Given the description of an element on the screen output the (x, y) to click on. 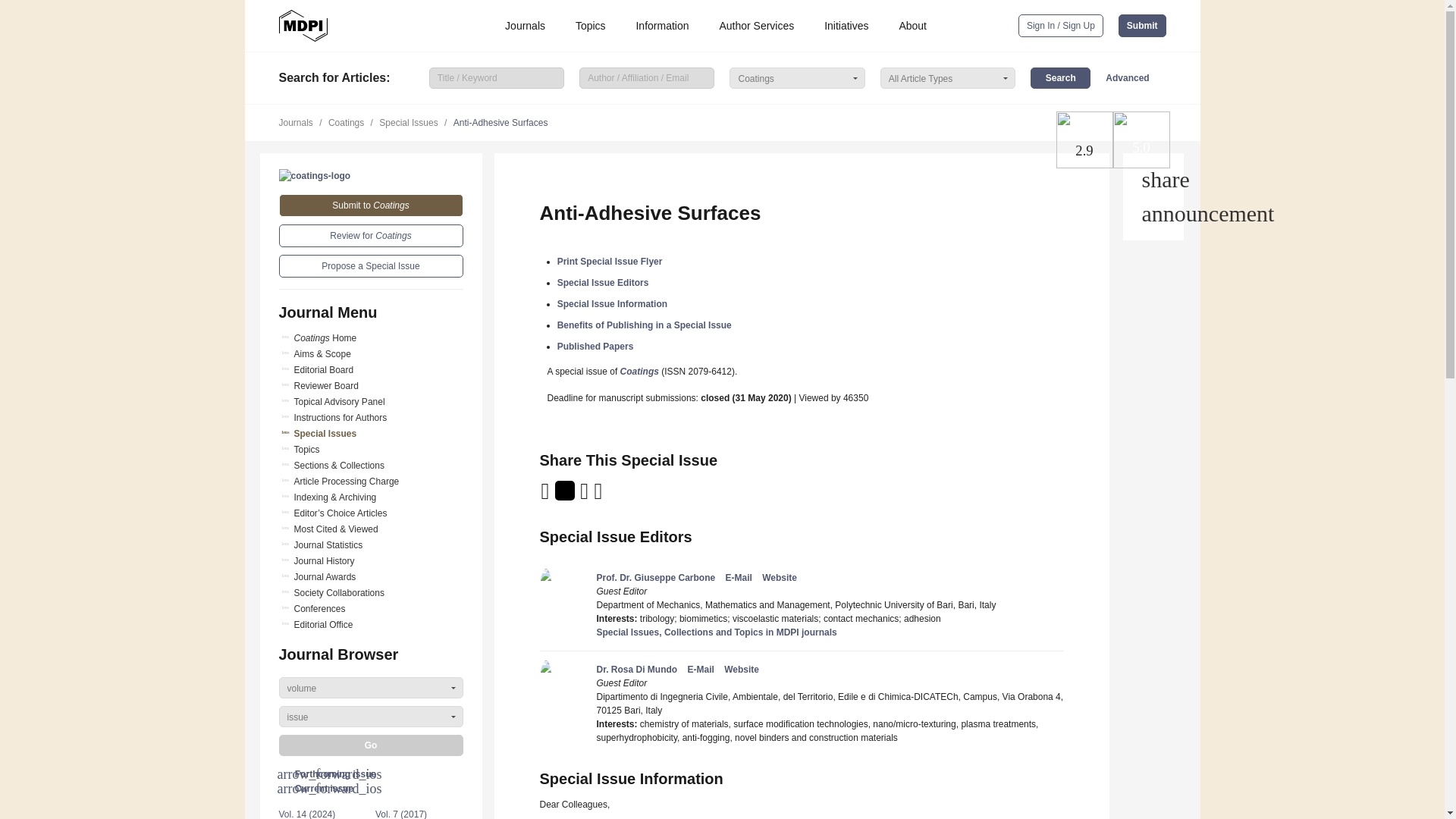
Help (1152, 213)
Share (1152, 179)
LinkedIn (585, 495)
MDPI Open Access Journals (303, 25)
Search (1060, 77)
Email (546, 495)
Wechat (617, 495)
facebook (599, 495)
Search (1060, 77)
Go (371, 744)
